Given the description of an element on the screen output the (x, y) to click on. 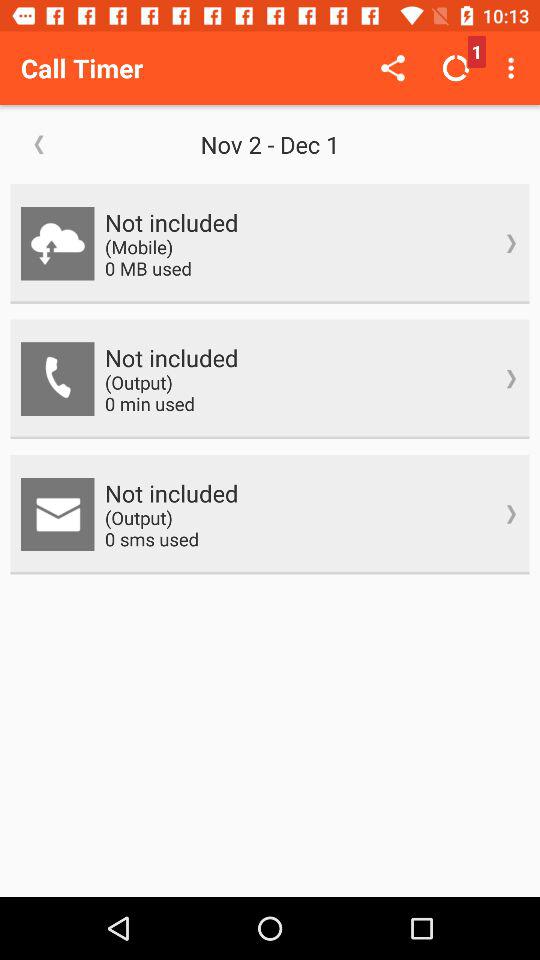
go back (39, 144)
